Given the description of an element on the screen output the (x, y) to click on. 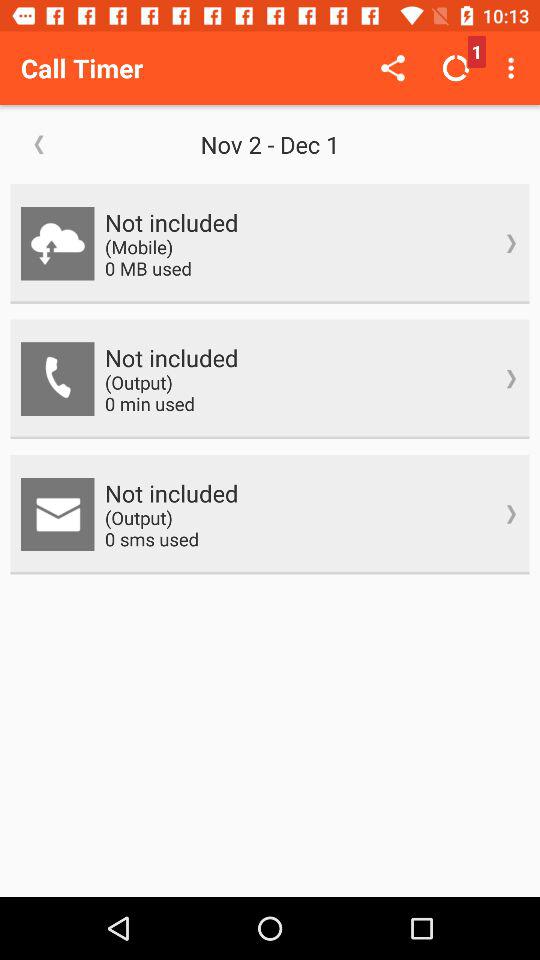
go back (39, 144)
